Given the description of an element on the screen output the (x, y) to click on. 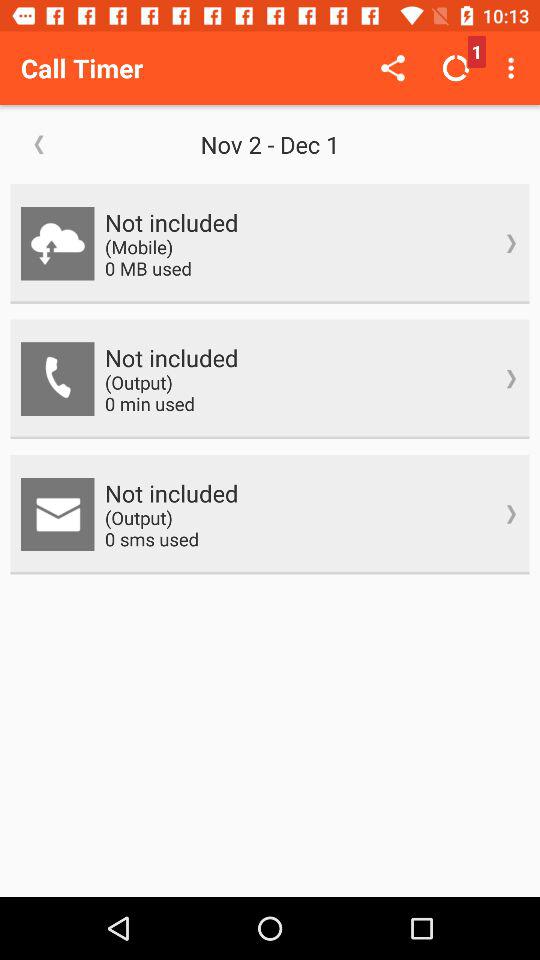
go back (39, 144)
